Given the description of an element on the screen output the (x, y) to click on. 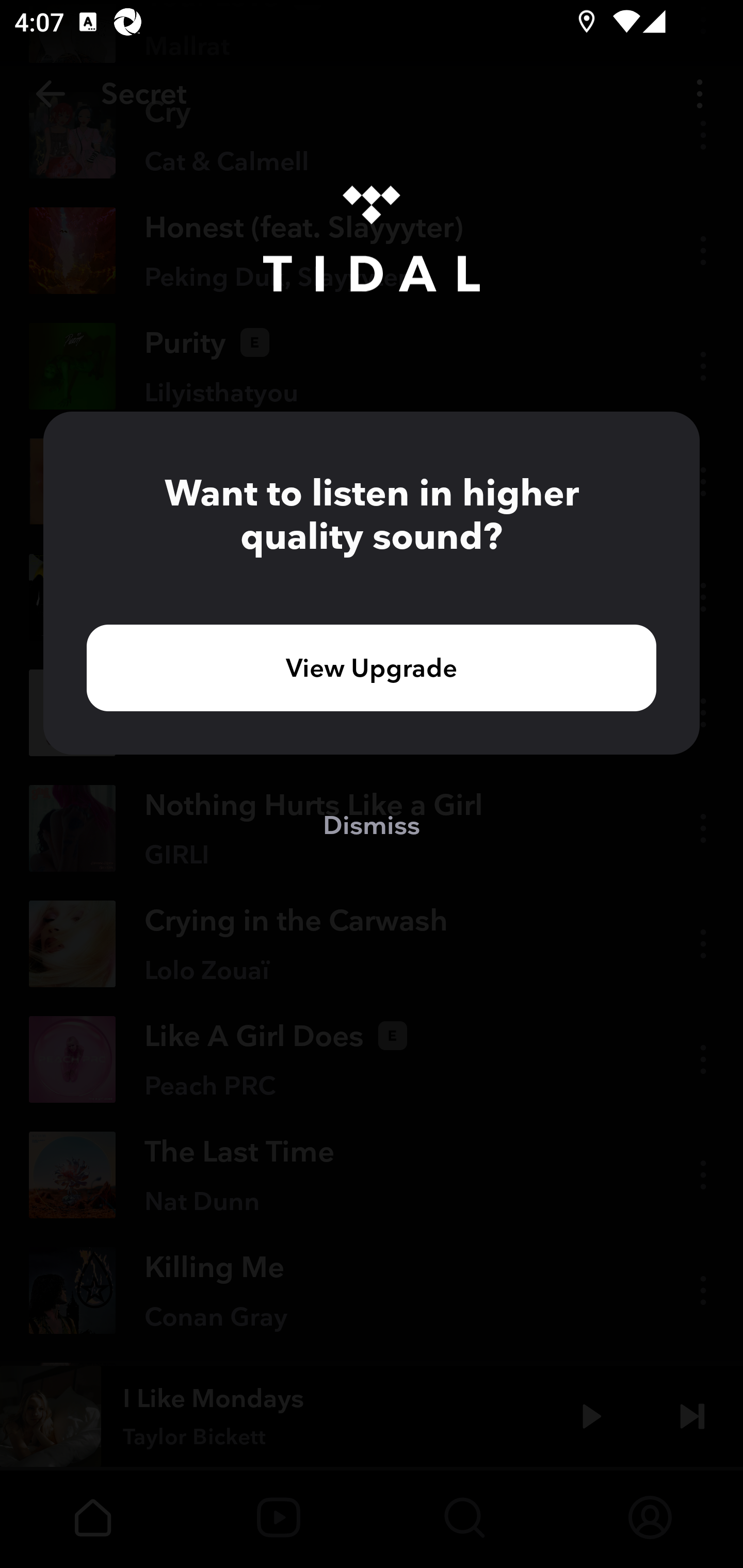
View Upgrade (371, 667)
Dismiss (371, 824)
